Given the description of an element on the screen output the (x, y) to click on. 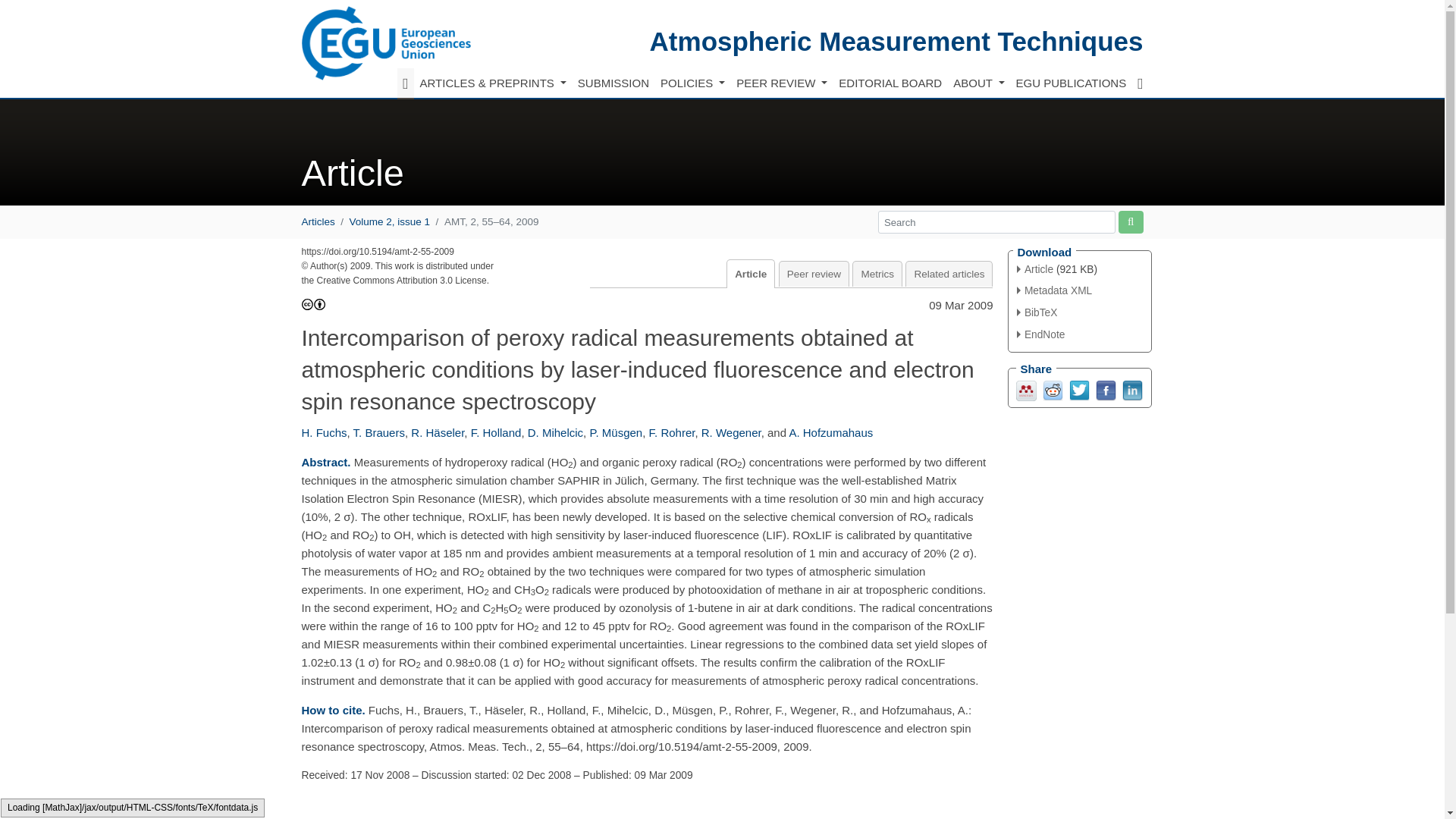
EDITORIAL BOARD (889, 83)
Twitter (1078, 389)
XML Version (1054, 290)
Mendeley (1026, 389)
POLICIES (691, 83)
SUBMISSION (612, 83)
PEER REVIEW (781, 83)
Start site search (1130, 221)
Reddit (1052, 389)
Atmospheric Measurement Techniques (895, 41)
